Given the description of an element on the screen output the (x, y) to click on. 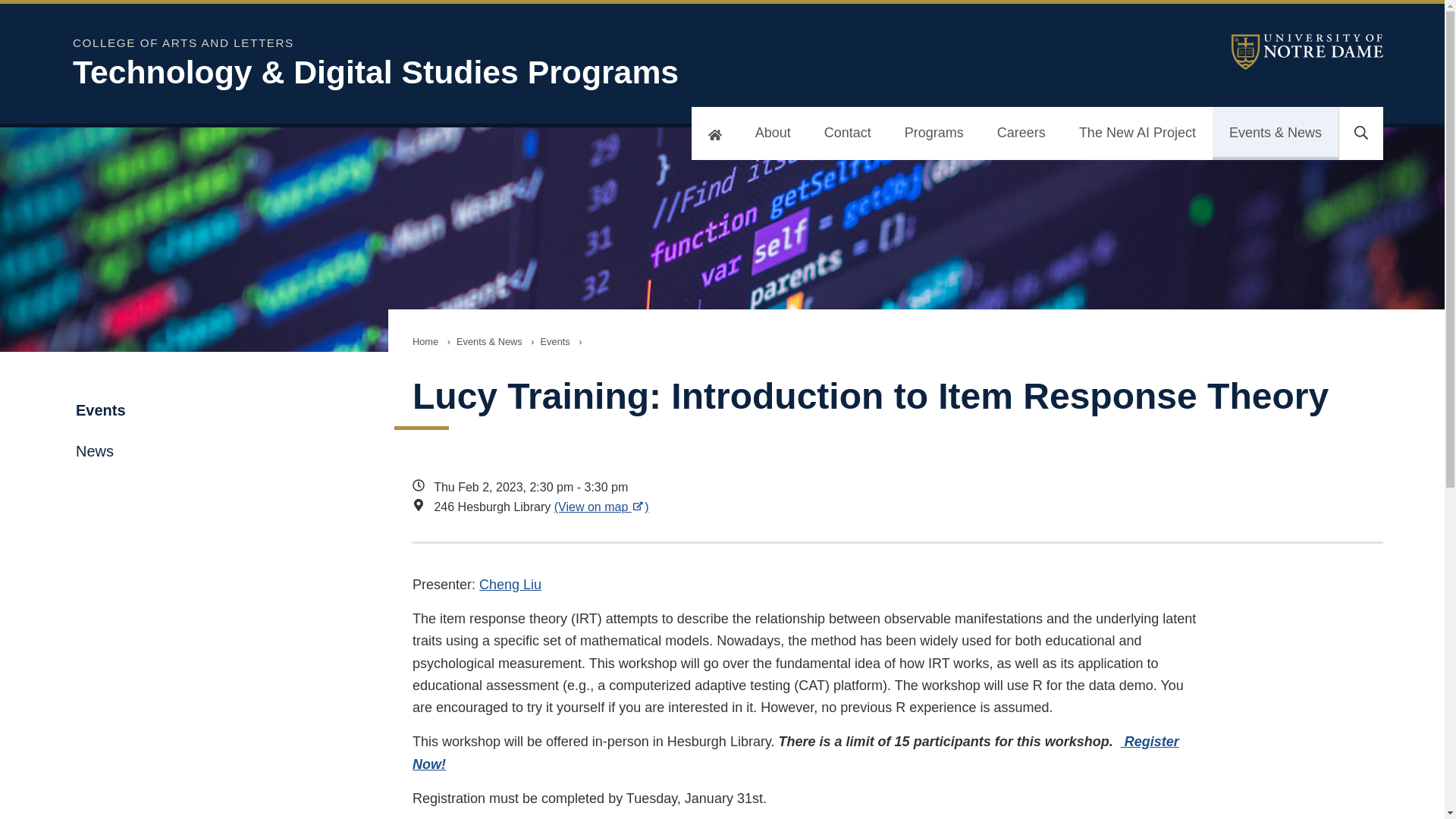
Contact (848, 133)
The New AI Project (1137, 133)
Home (425, 341)
Cheng Liu (510, 584)
Events (555, 341)
About (773, 133)
Careers (1020, 133)
 Register Now! (795, 752)
Programs (933, 133)
University of Notre Dame (1307, 51)
Thu Feb  2, 2023  2:30 pm -  3:30 pm (806, 487)
